Given the description of an element on the screen output the (x, y) to click on. 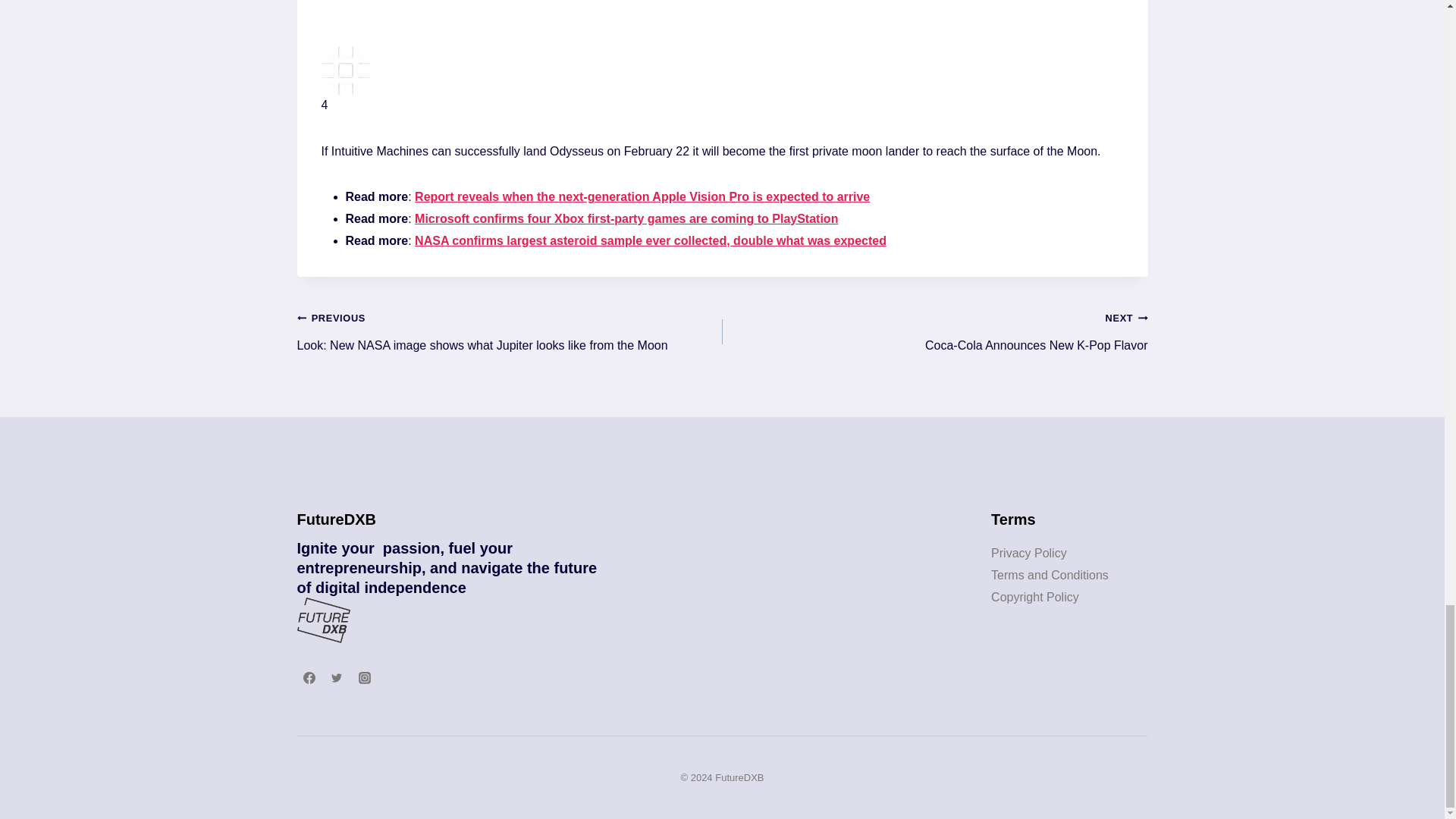
Terms and Conditions (1049, 574)
Privacy Policy (1029, 553)
Copyright Policy (1034, 596)
Open Gallery (934, 332)
